Given the description of an element on the screen output the (x, y) to click on. 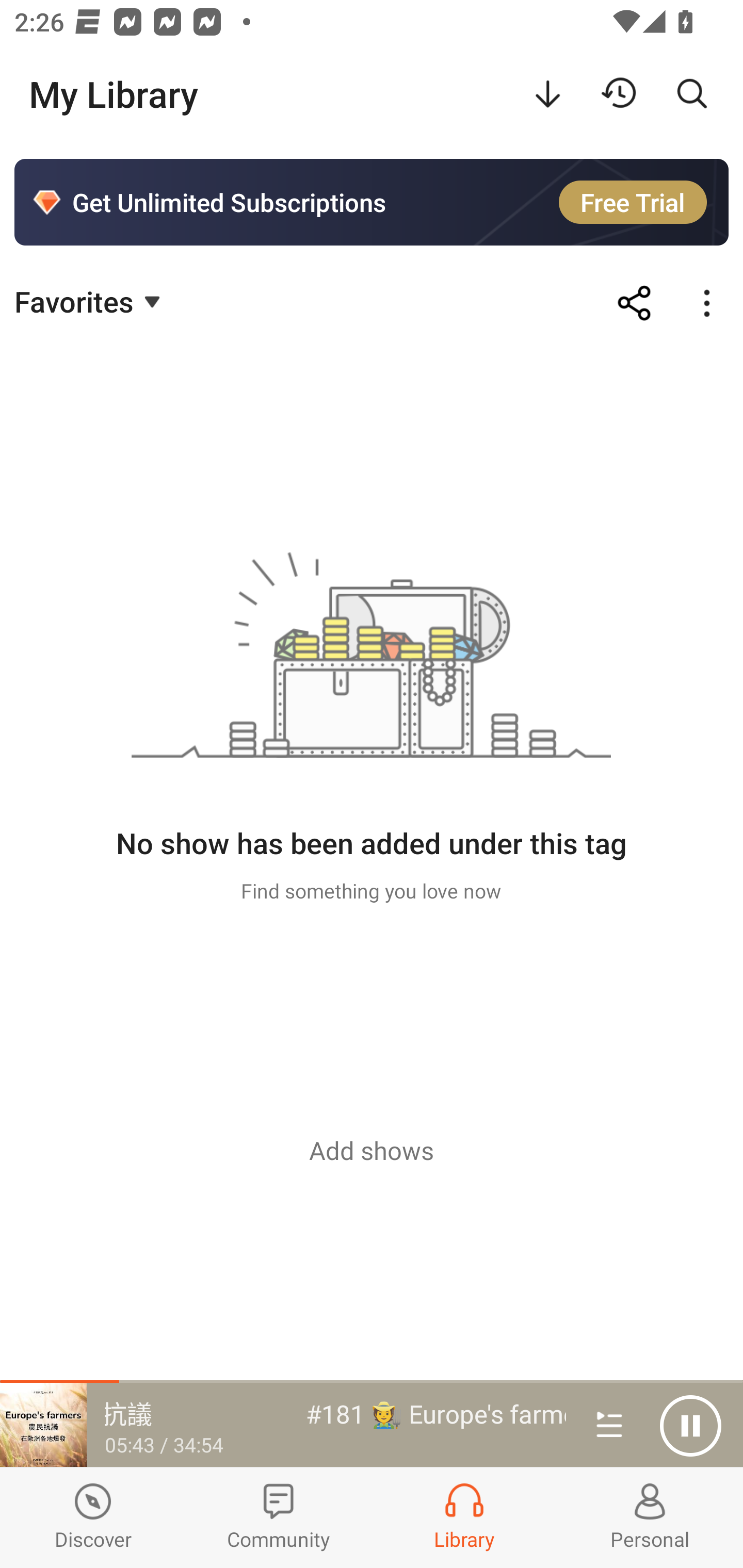
Get Unlimited Subscriptions Free Trial (371, 202)
Free Trial (632, 202)
Favorites (90, 300)
Add shows (371, 1150)
#181 🧑‍🌾 Europe's farmers 歐洲各地爆發農民抗議 05:43 / 34:54 (283, 1424)
Pause (690, 1425)
Discover (92, 1517)
Community (278, 1517)
Library (464, 1517)
Profiles and Settings Personal (650, 1517)
